Given the description of an element on the screen output the (x, y) to click on. 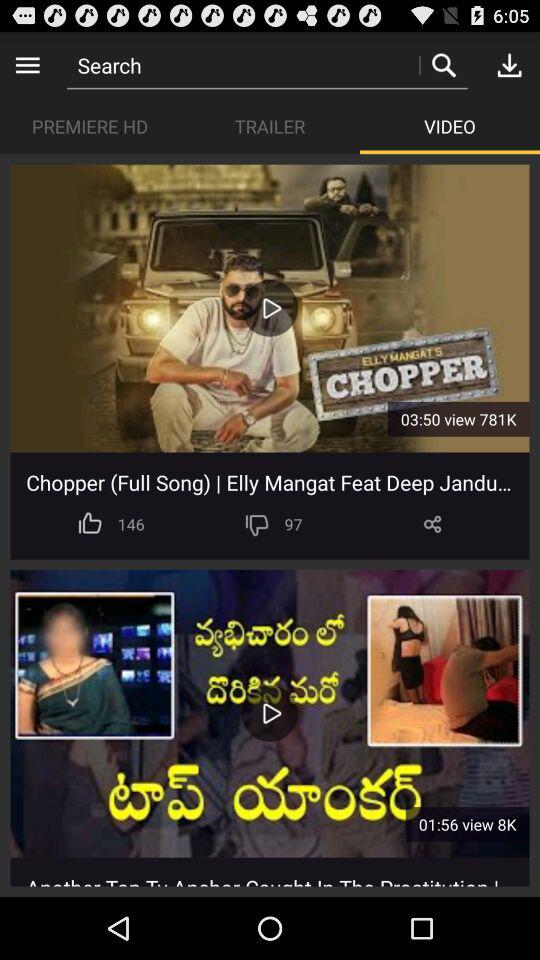
open sidebar (27, 64)
